Given the description of an element on the screen output the (x, y) to click on. 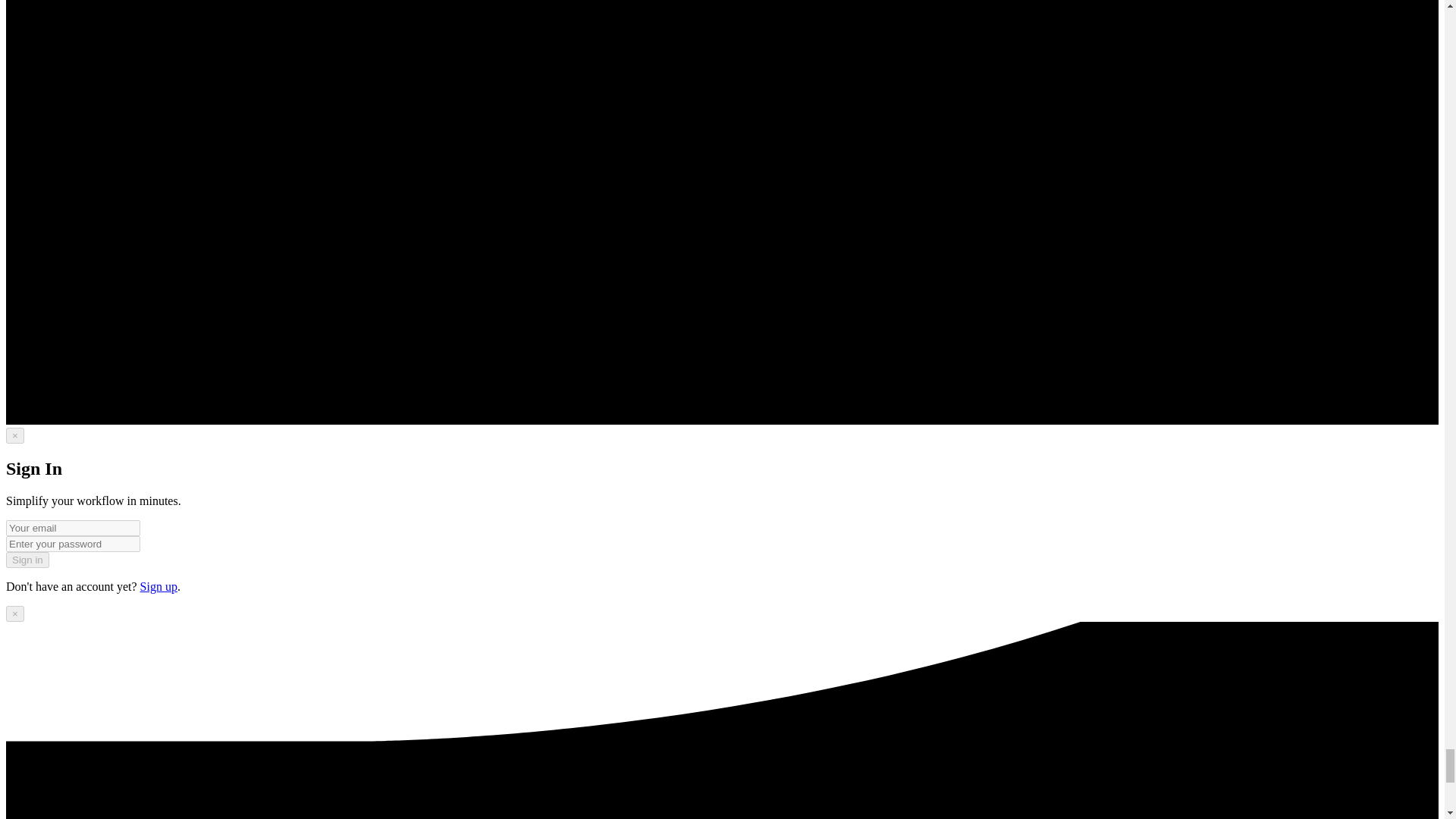
Sign up (158, 585)
Sign in (27, 560)
